Given the description of an element on the screen output the (x, y) to click on. 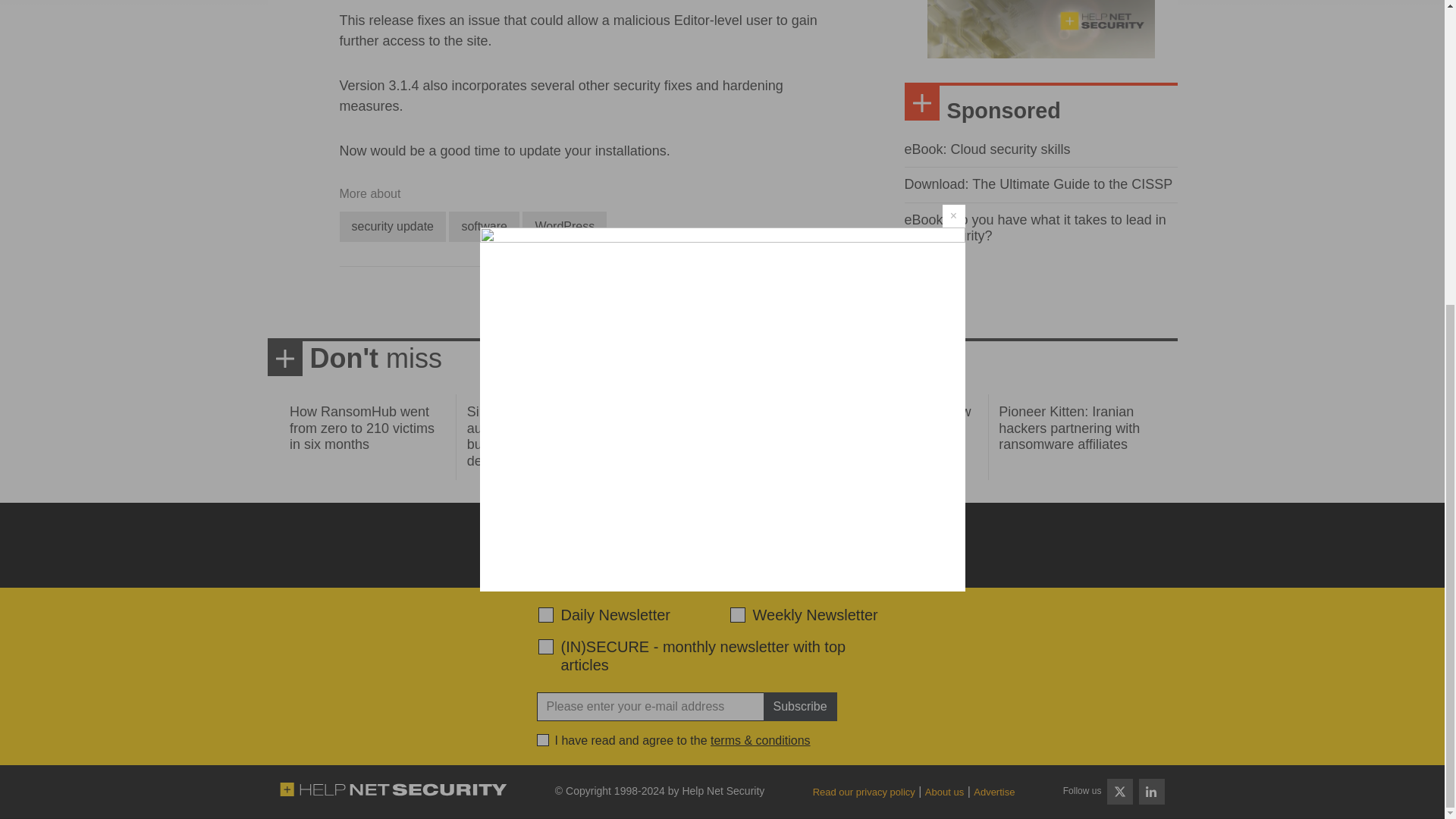
security update (392, 225)
Share WordPress 3.1.4 fixes security issues on LinkedIn (615, 302)
WordPress (564, 225)
How RansomHub went from zero to 210 victims in six months (361, 428)
WordPress (564, 225)
1 (542, 739)
eBook: Do you have what it takes to lead in cybersecurity? (1035, 228)
security update (392, 225)
Share WordPress 3.1.4 fixes security issues on Facebook (560, 302)
